Given the description of an element on the screen output the (x, y) to click on. 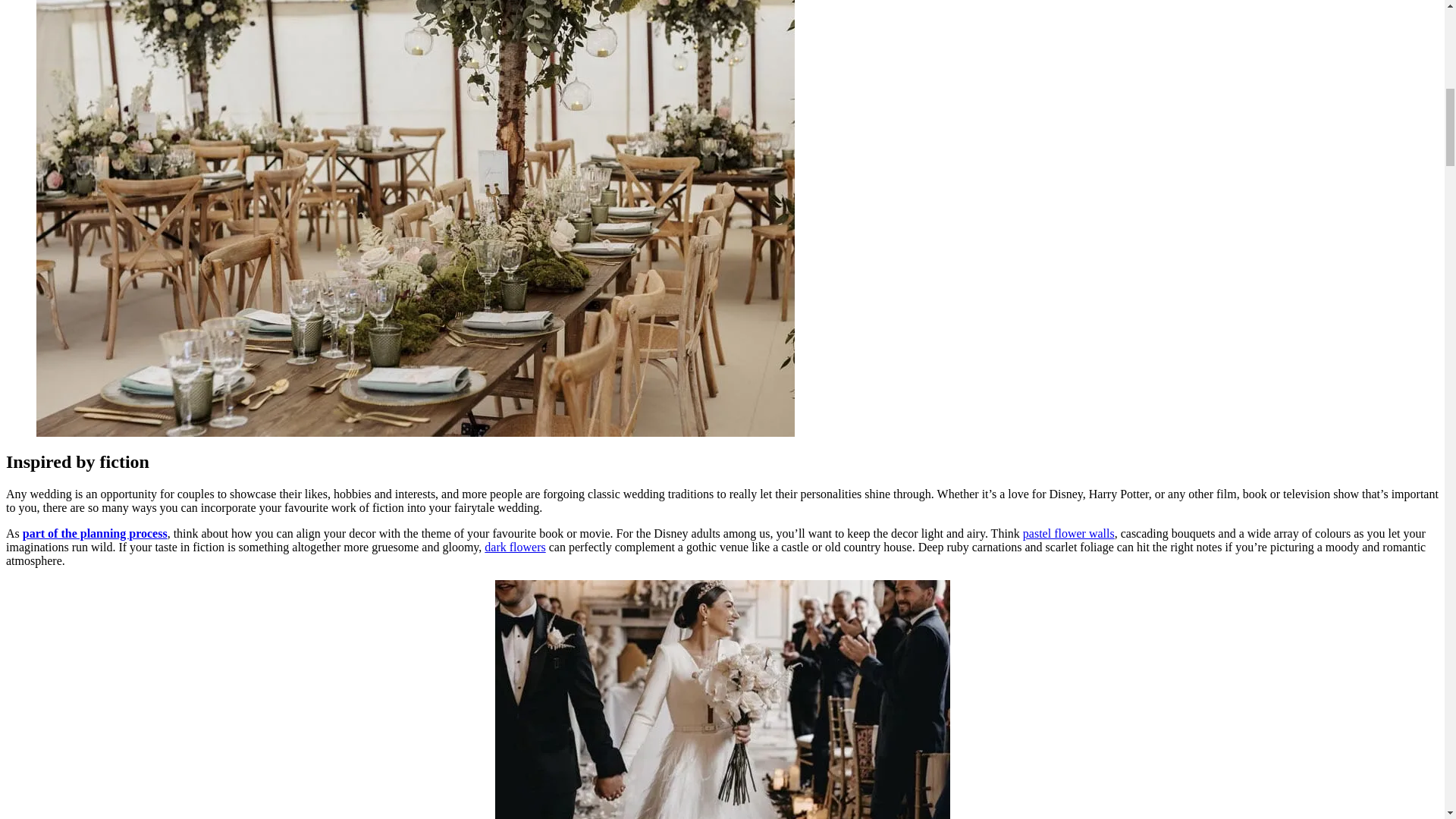
dark flowers (514, 546)
part of the planning process (95, 533)
pastel flower walls (1069, 533)
